Given the description of an element on the screen output the (x, y) to click on. 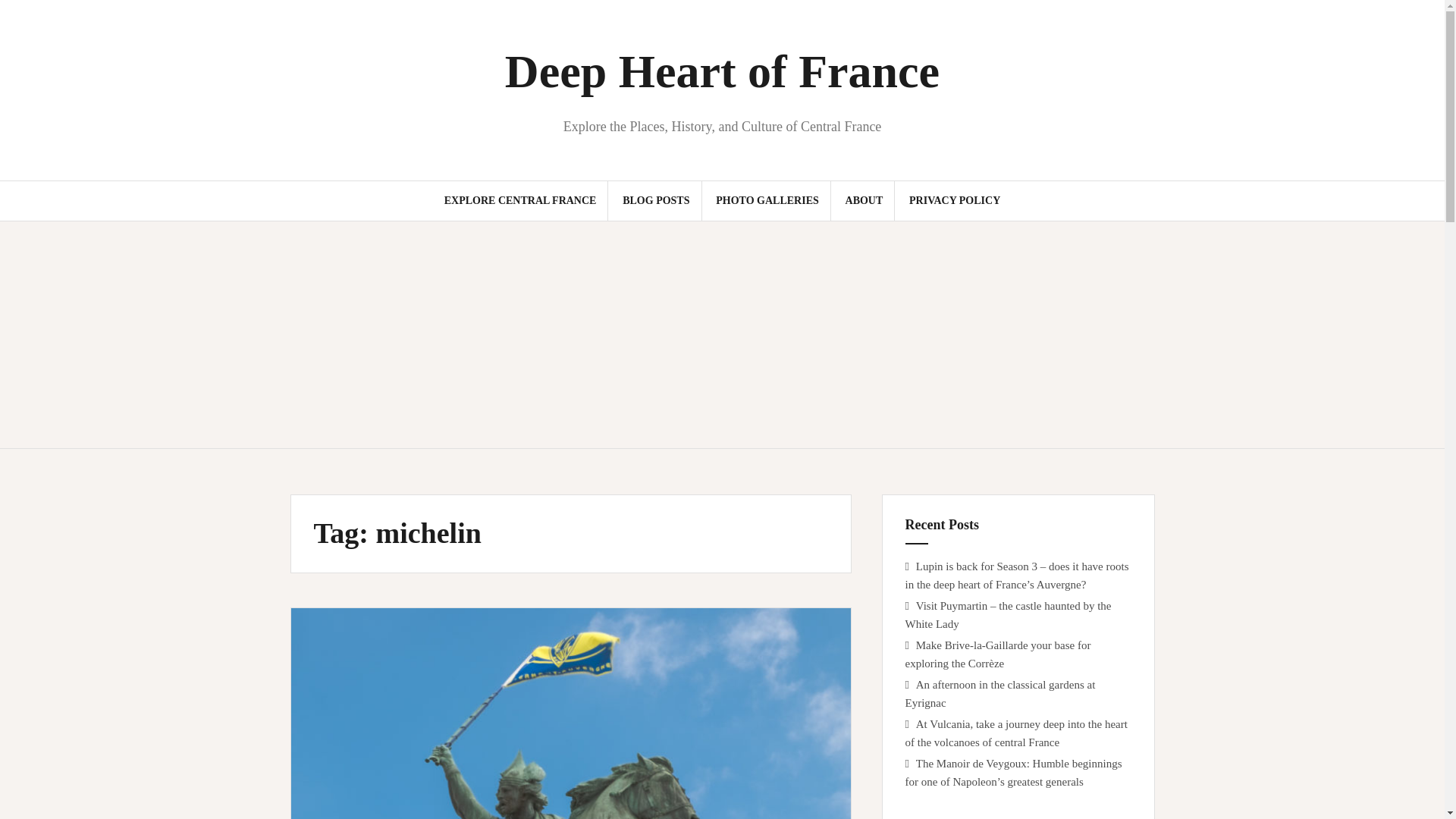
ABOUT (864, 200)
EXPLORE CENTRAL FRANCE (520, 200)
PHOTO GALLERIES (767, 200)
PRIVACY POLICY (954, 200)
BLOG POSTS (655, 200)
Deep Heart of France (722, 71)
